Given the description of an element on the screen output the (x, y) to click on. 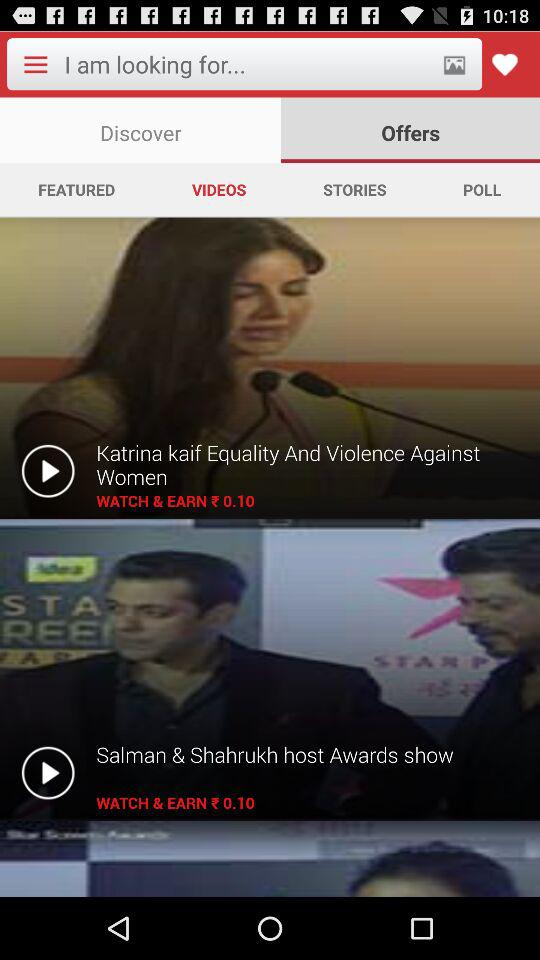
press item above offers app (453, 63)
